Given the description of an element on the screen output the (x, y) to click on. 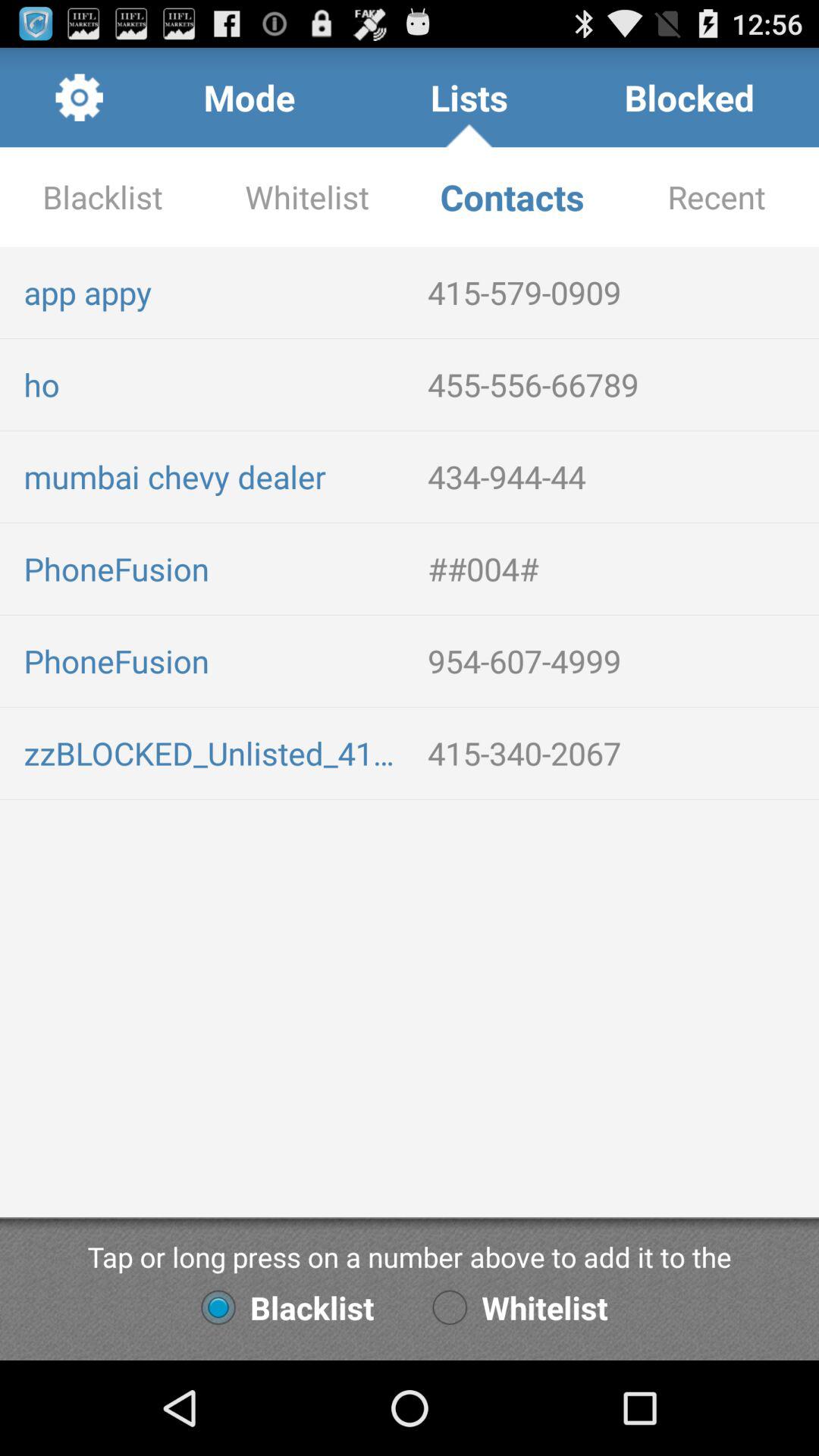
open item next to the 415-340-2067 app (213, 752)
